Given the description of an element on the screen output the (x, y) to click on. 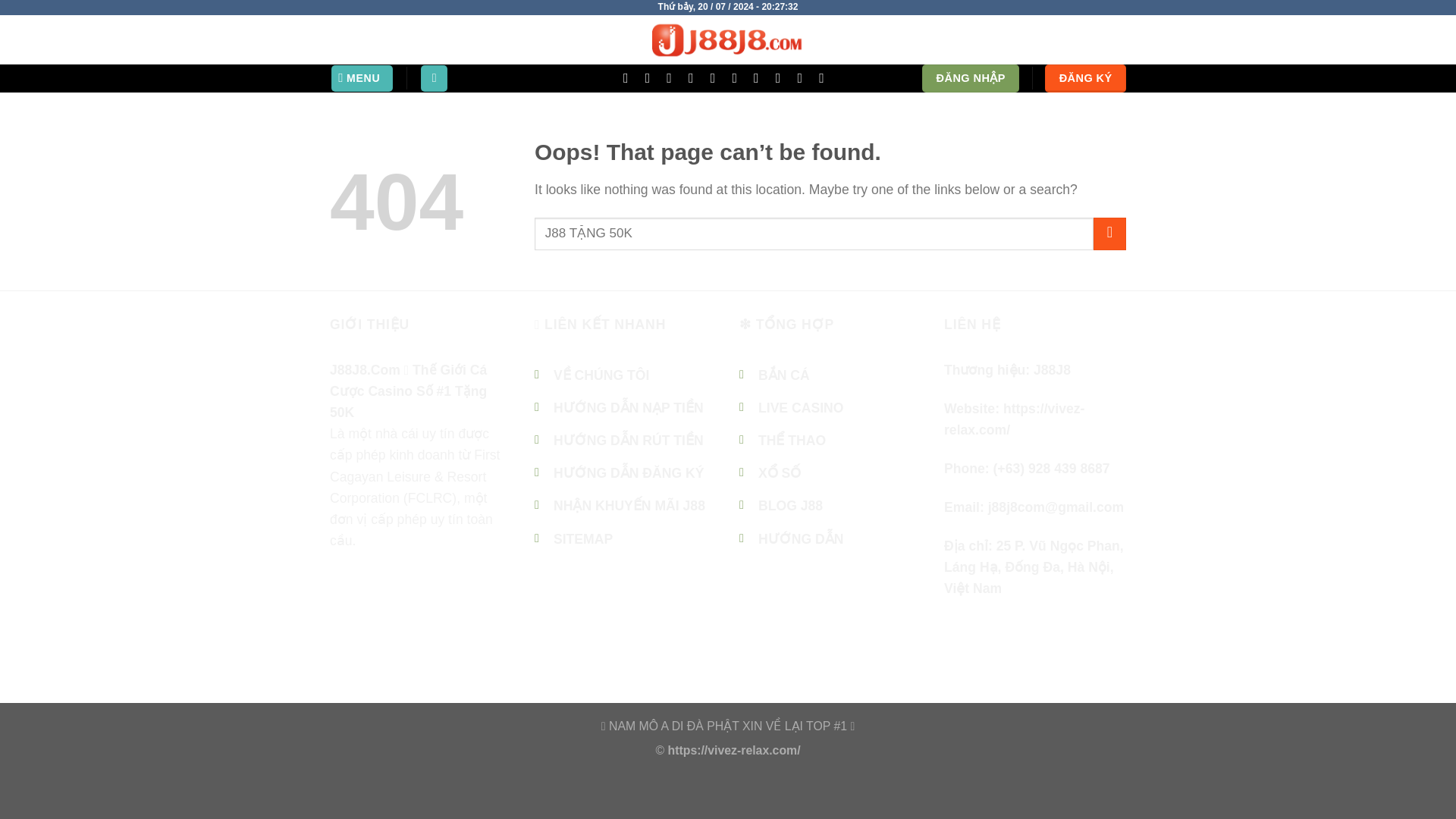
Follow on Facebook (630, 77)
Follow on Twitter (652, 77)
Follow on Twitch (825, 77)
Follow on Twitter (374, 611)
Follow on 500px (803, 77)
Follow on Facebook (344, 611)
Send us an email (672, 77)
Follow on Pinterest (716, 77)
Follow on Pinterest (465, 611)
Subscribe to RSS (738, 77)
Subscribe to RSS (494, 611)
SITEMAP (582, 538)
MENU (362, 78)
Flickr (782, 77)
Follow on YouTube (760, 77)
